Given the description of an element on the screen output the (x, y) to click on. 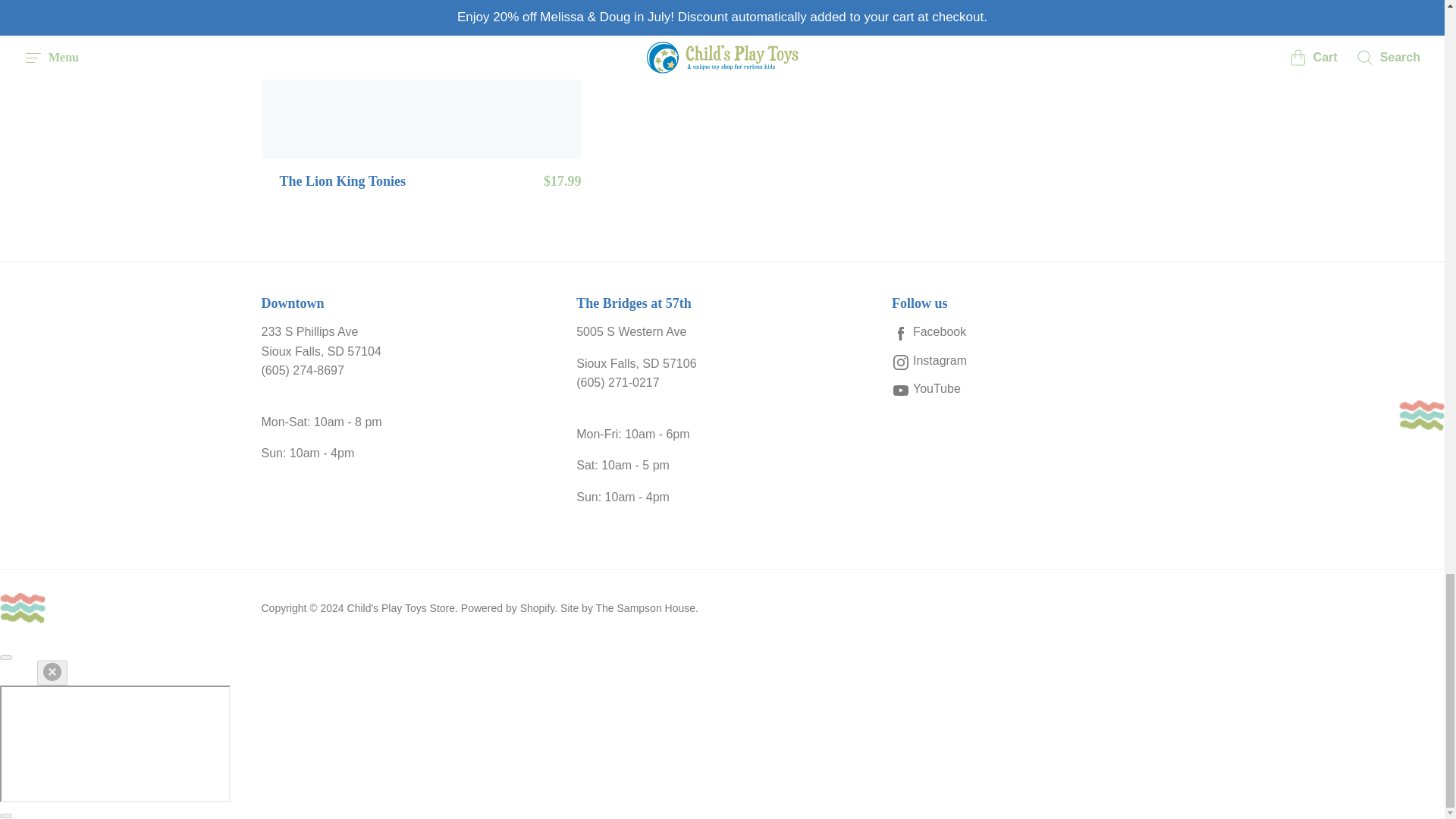
Instagram (1036, 361)
YouTube (1036, 388)
Facebook (1036, 332)
